Given the description of an element on the screen output the (x, y) to click on. 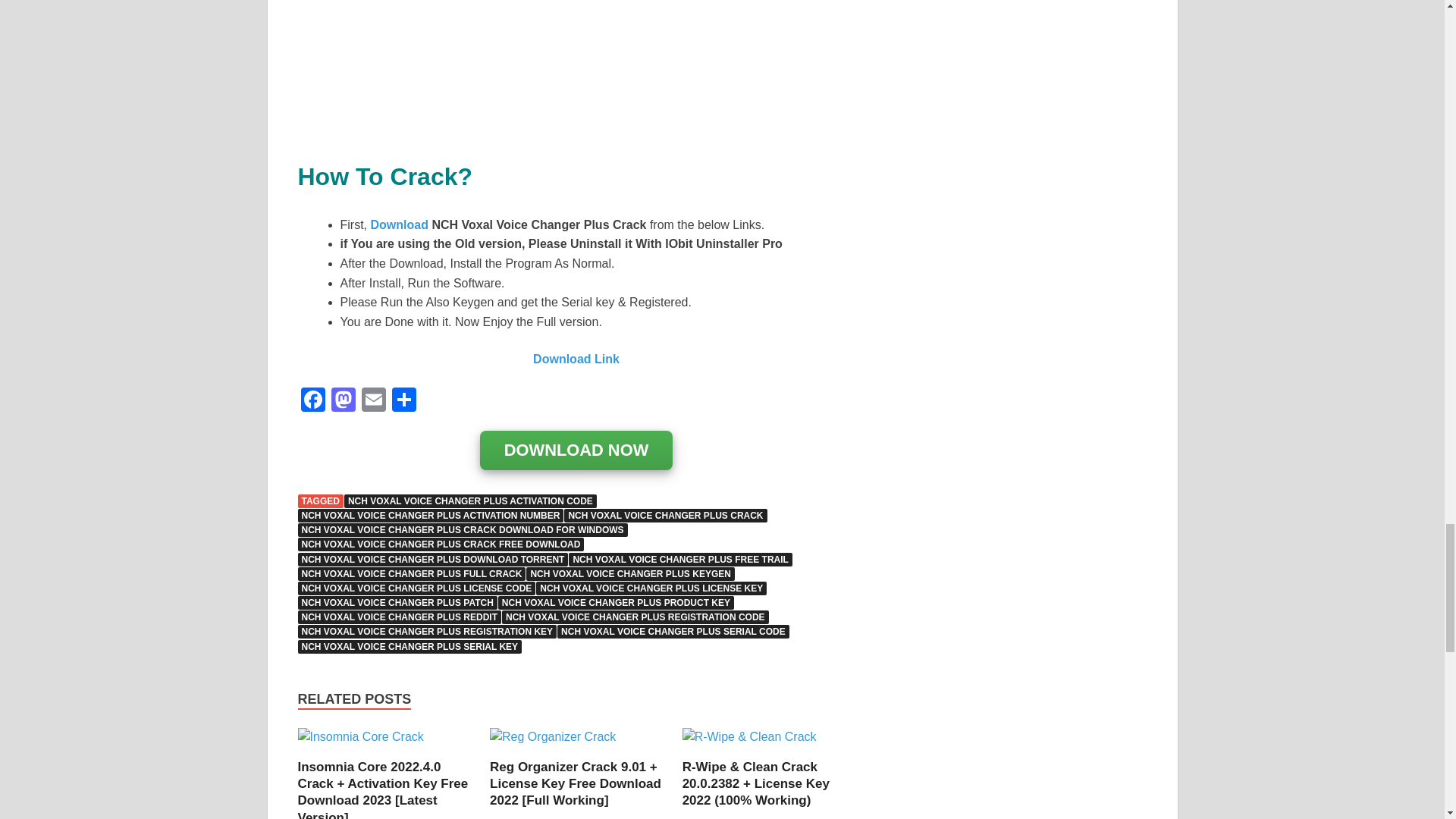
NCH VOXAL VOICE CHANGER PLUS CRACK DOWNLOAD FOR WINDOWS (462, 530)
Mastodon (342, 401)
Mastodon (342, 401)
NCH VOXAL VOICE CHANGER PLUS ACTIVATION NUMBER (430, 515)
Facebook (312, 401)
NCH VOXAL VOICE CHANGER PLUS ACTIVATION CODE (469, 500)
DOWNLOAD NOW (576, 450)
Download Link (576, 358)
NCH VOXAL VOICE CHANGER PLUS CRACK FREE DOWNLOAD (440, 544)
DOWNLOAD NOW (577, 451)
NCH VOXAL VOICE CHANGER PLUS FREE TRAIL (680, 559)
Facebook (312, 401)
Download  (399, 224)
Email (373, 401)
Email (373, 401)
